Given the description of an element on the screen output the (x, y) to click on. 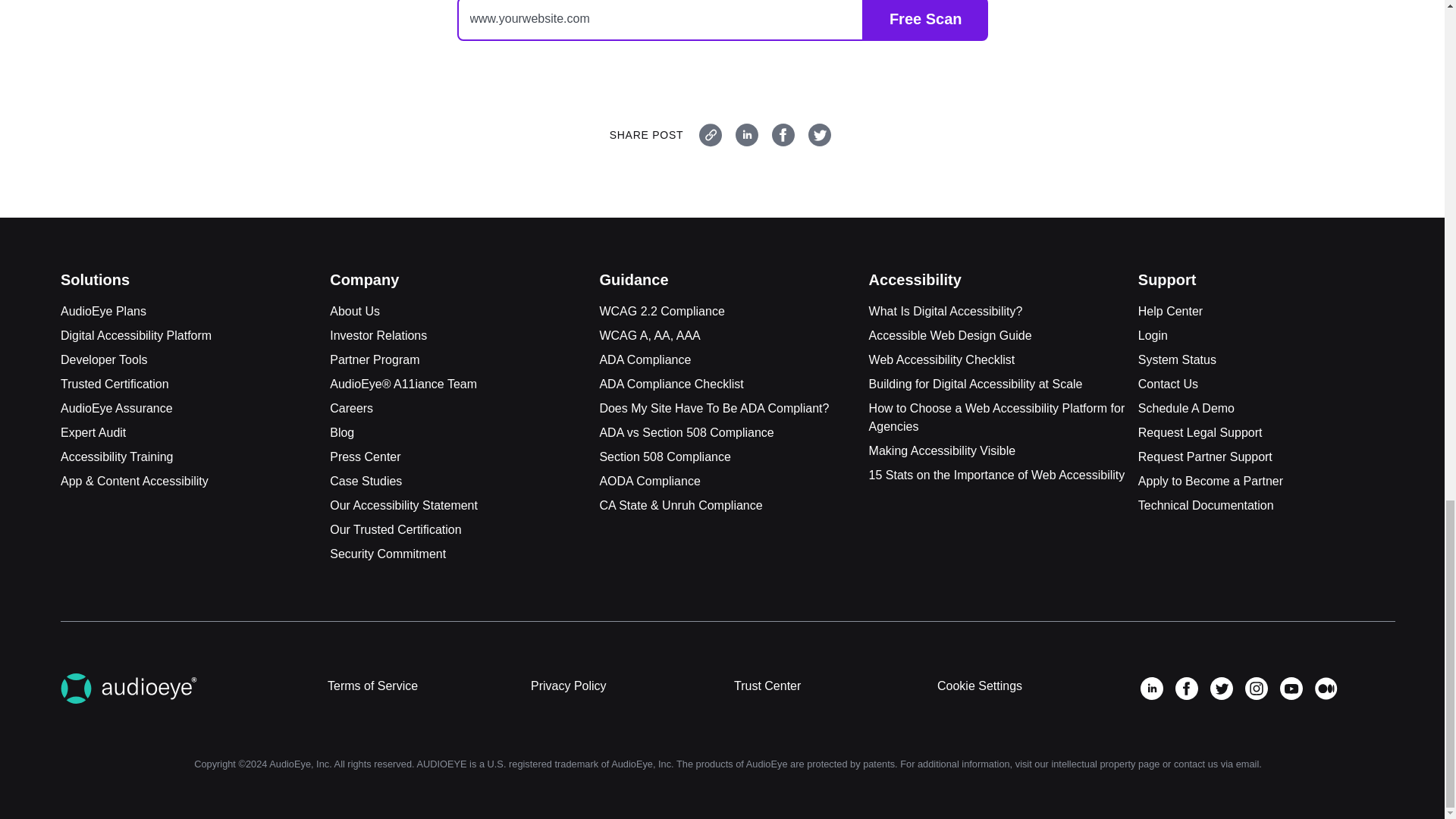
Free Scan (925, 20)
